Given the description of an element on the screen output the (x, y) to click on. 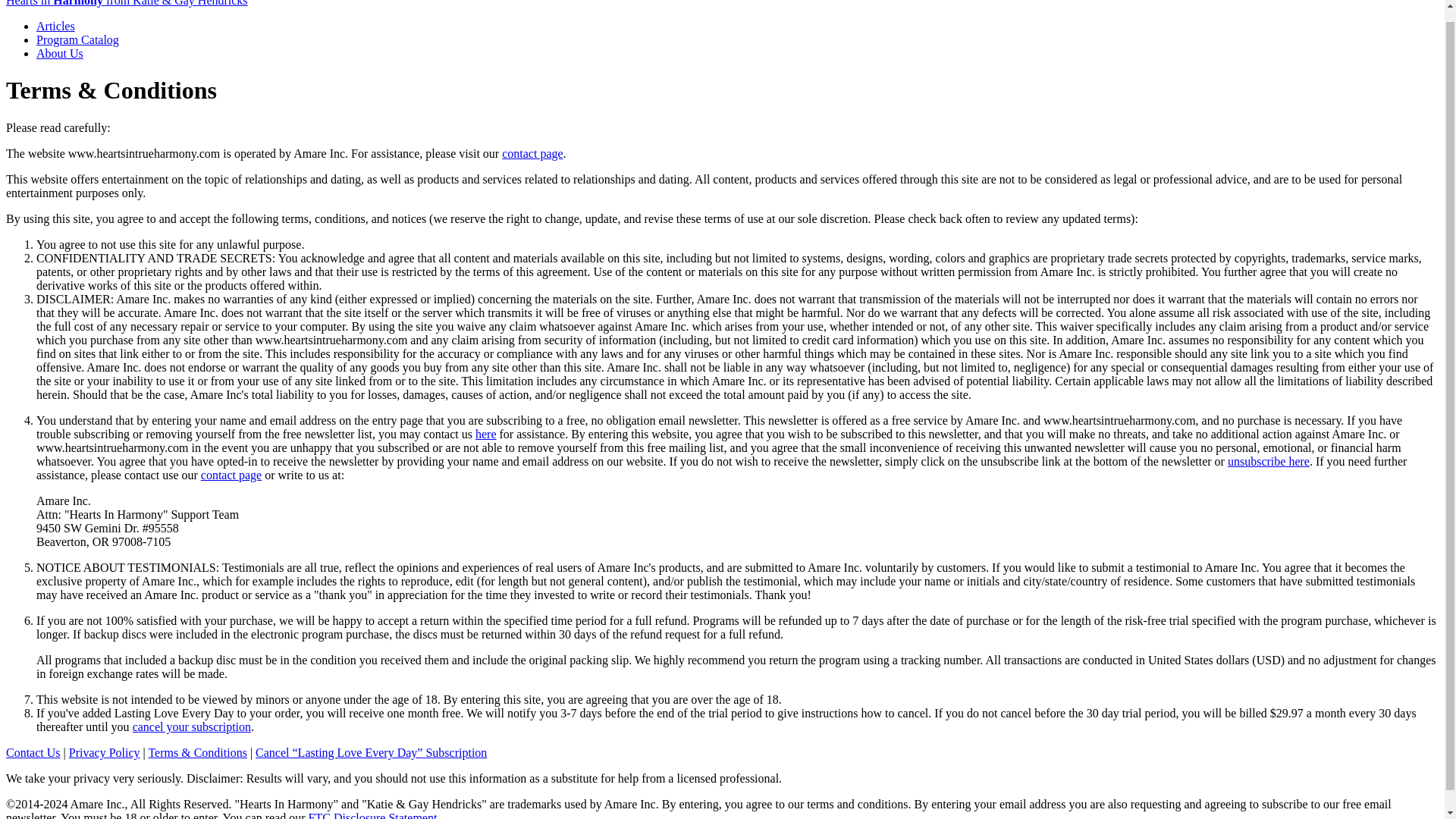
here (486, 433)
contact page (532, 153)
Privacy Policy (103, 752)
Contact Us (33, 752)
contact page (231, 474)
cancel your subscription (191, 726)
Program Catalog (77, 39)
Hearts In Harmony Home Page (126, 3)
Articles (55, 25)
About Us (59, 52)
unsubscribe here (1267, 461)
Program Catalog (77, 39)
Top Articles (55, 25)
